Given the description of an element on the screen output the (x, y) to click on. 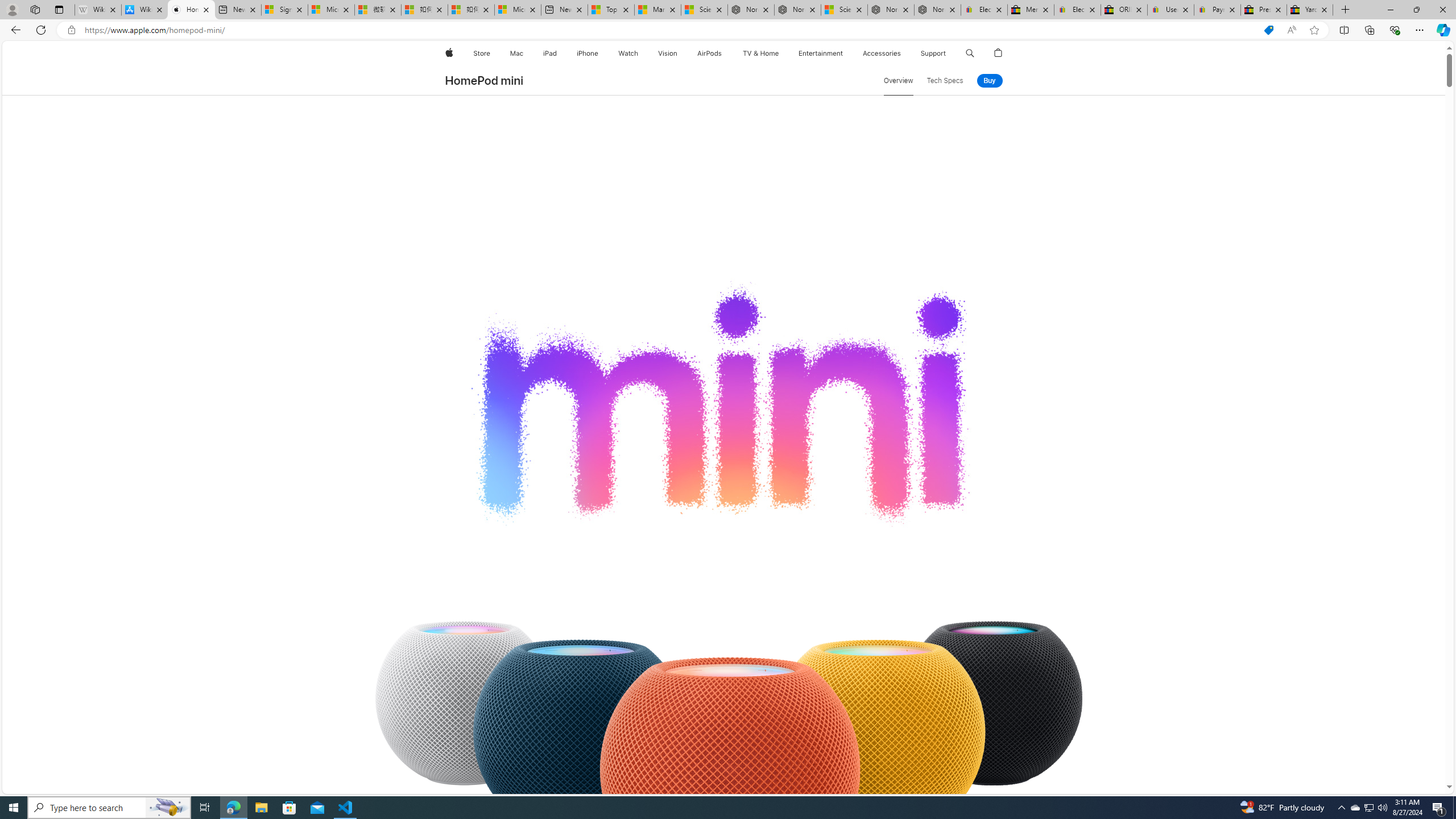
HomePod mini - Apple (191, 9)
Buy HomePod mini (989, 80)
Nordace - FAQ (937, 9)
